Given the description of an element on the screen output the (x, y) to click on. 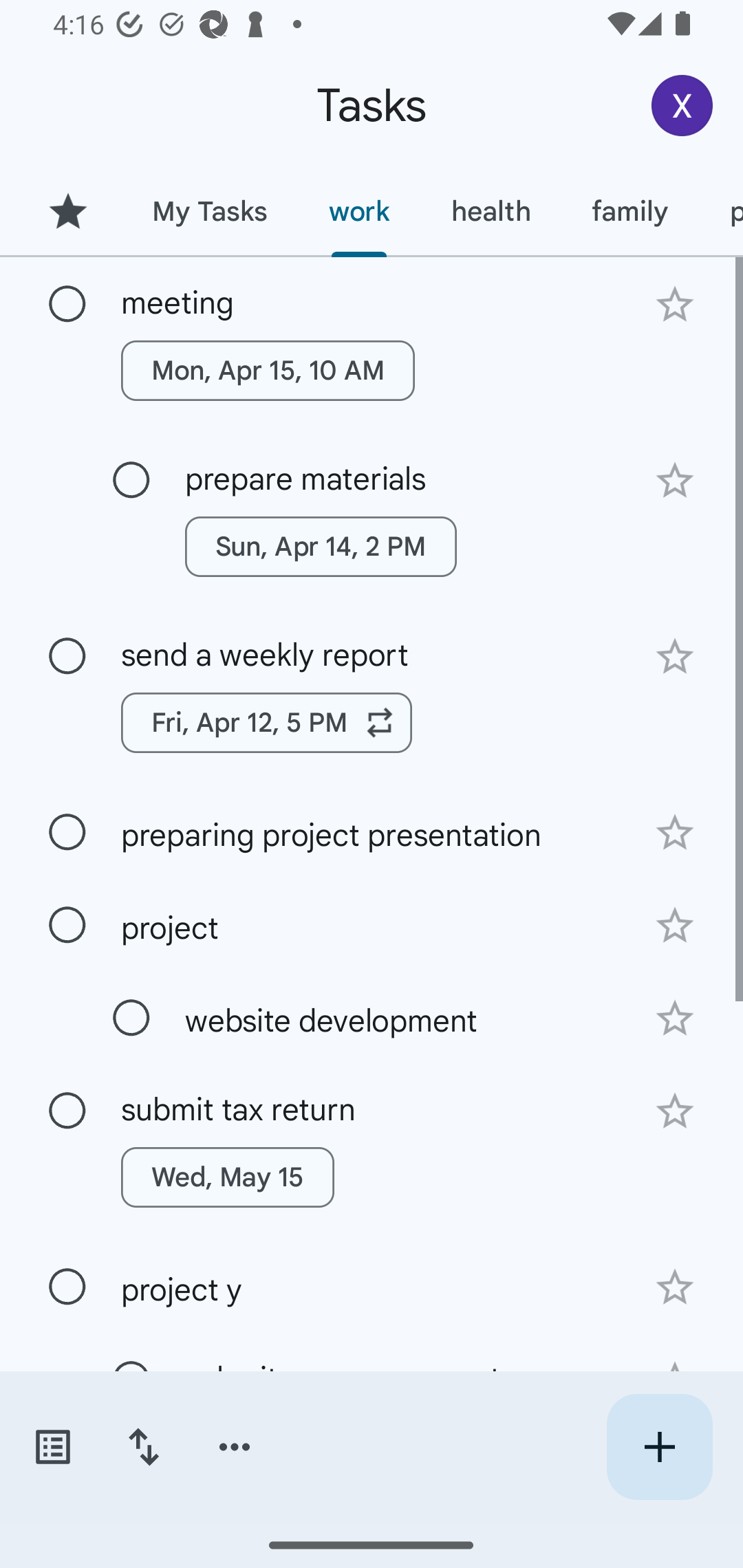
Starred (67, 211)
My Tasks (209, 211)
health (490, 211)
family (629, 211)
Add star (674, 303)
Mark as complete (67, 304)
Mon, Apr 15, 10 AM (267, 369)
Add star (674, 480)
Mark as complete (131, 480)
Sun, Apr 14, 2 PM (320, 546)
Add star (674, 656)
Mark as complete (67, 655)
Fri, Apr 12, 5 PM (266, 722)
Add star (674, 832)
Mark as complete (67, 833)
Add star (674, 924)
Mark as complete (67, 925)
Add star (674, 1018)
Mark as complete (131, 1018)
Add star (674, 1111)
Mark as complete (67, 1110)
Wed, May 15 (227, 1177)
Add star (674, 1286)
Mark as complete (67, 1287)
Switch task lists (52, 1447)
Create new task (659, 1446)
Change sort order (143, 1446)
More options (234, 1446)
